Given the description of an element on the screen output the (x, y) to click on. 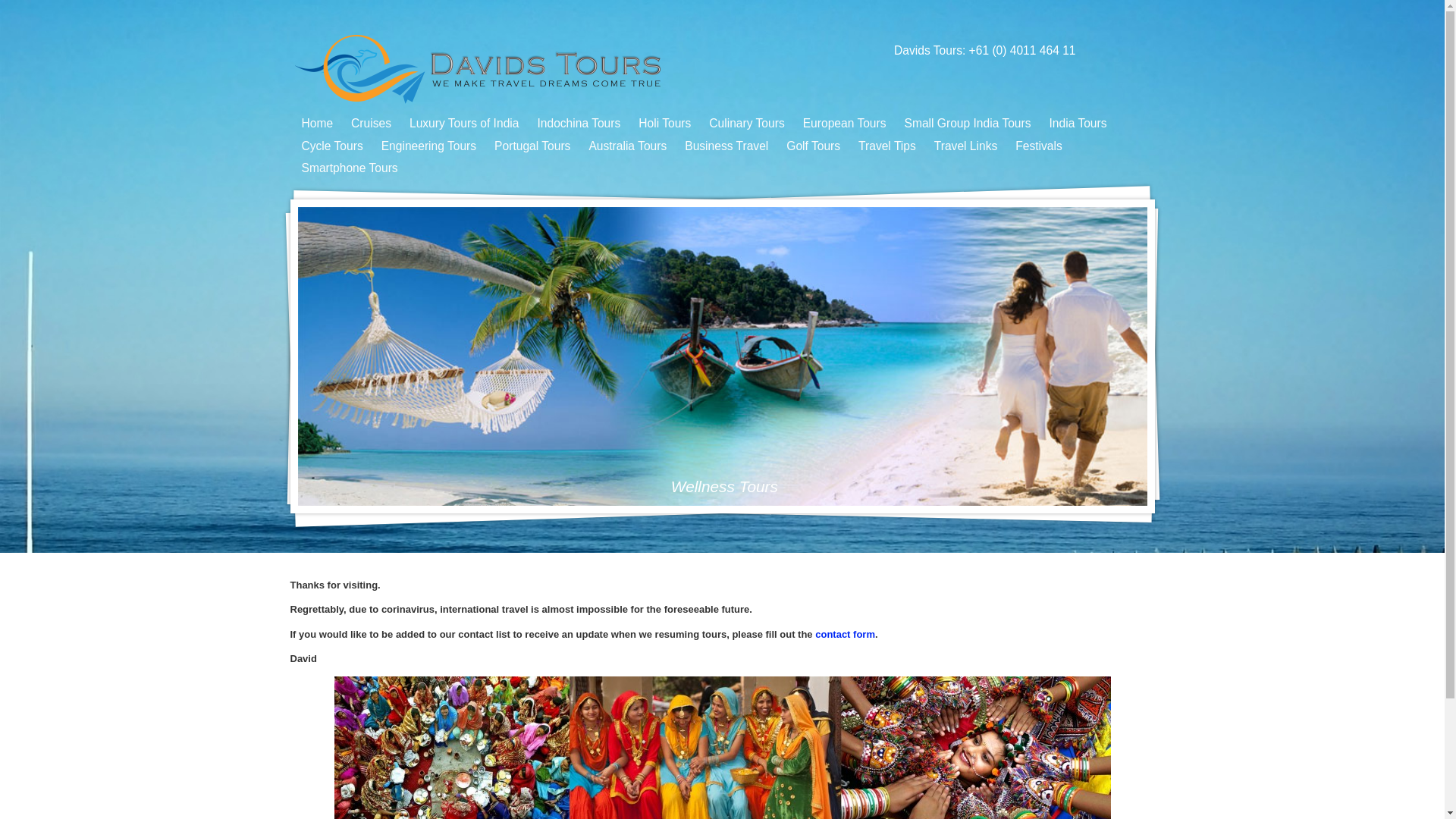
India Tours Element type: text (1077, 123)
Twitter Element type: hover (1128, 49)
Portugal Tours Element type: text (532, 145)
Cycle Tours Element type: text (331, 145)
Travel Tips Element type: text (886, 145)
Small Group India Tours Element type: text (967, 123)
Indochina Tours Element type: text (578, 123)
Holi Tours Element type: text (664, 123)
 Wellness Tours Element type: text (722, 486)
Luxury Tours of India Element type: text (463, 123)
Festivals Element type: text (1038, 145)
Facebook Element type: hover (1088, 49)
Vimeo Element type: hover (1148, 49)
Australia Tours Element type: text (627, 145)
contact form Element type: text (845, 634)
Culinary Tours Element type: text (746, 123)
European Tours Element type: text (844, 123)
LinkedIn Element type: hover (1108, 49)
Travel Links Element type: text (965, 145)
Engineering Tours Element type: text (428, 145)
Home Element type: text (316, 123)
Business Travel Element type: text (726, 145)
Golf Tours Element type: text (813, 145)
Cruises Element type: text (371, 123)
Smartphone Tours Element type: text (349, 167)
